Given the description of an element on the screen output the (x, y) to click on. 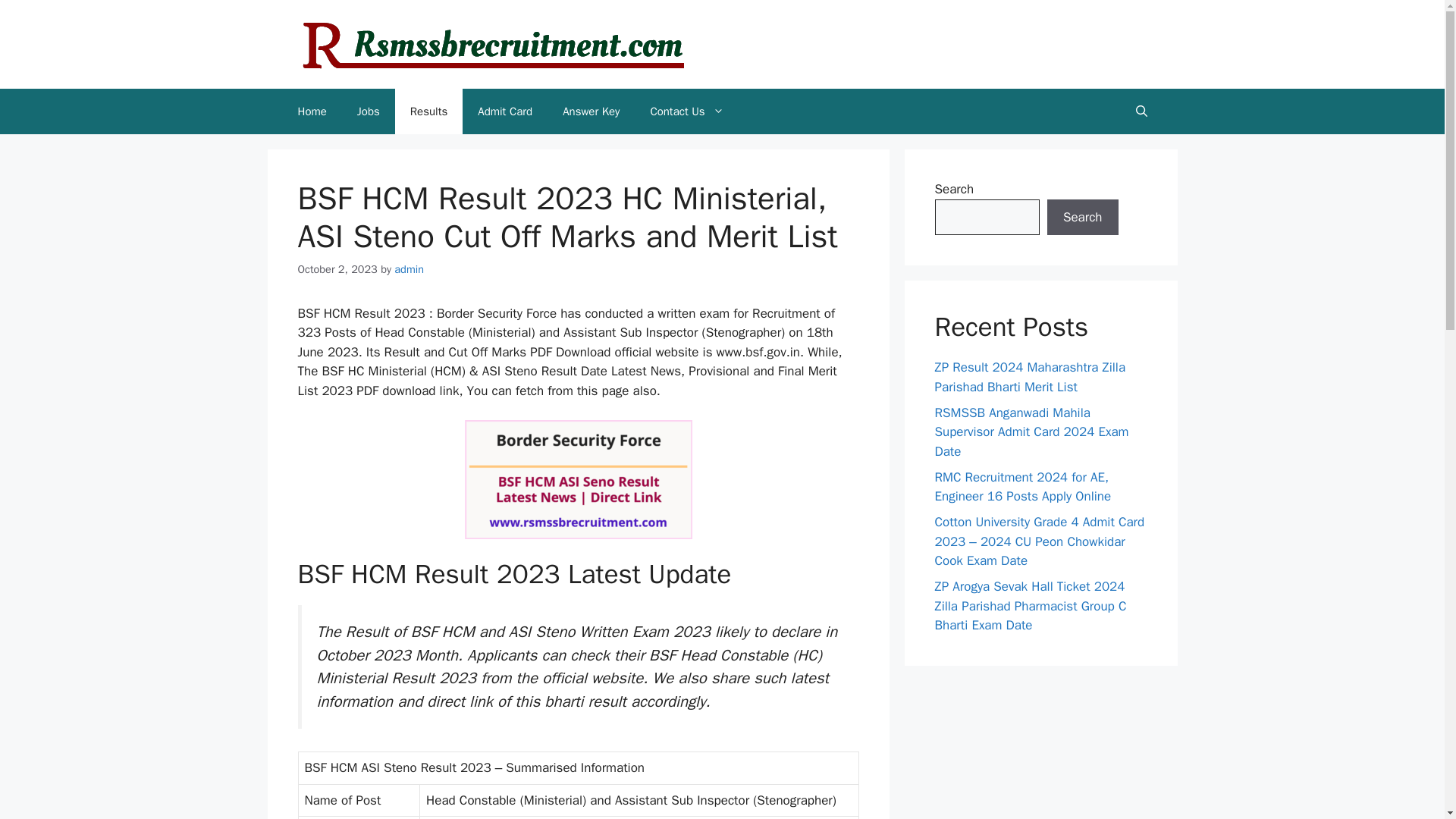
Jobs (368, 111)
admin (408, 269)
ZP Result 2024 Maharashtra Zilla Parishad Bharti Merit List (1029, 376)
RSMSSB Anganwadi Mahila Supervisor Admit Card 2024 Exam Date (1031, 431)
Answer Key (590, 111)
RMC Recruitment 2024 for AE, Engineer 16 Posts Apply Online (1022, 486)
Contact Us (686, 111)
Home (311, 111)
Admit Card (505, 111)
